Given the description of an element on the screen output the (x, y) to click on. 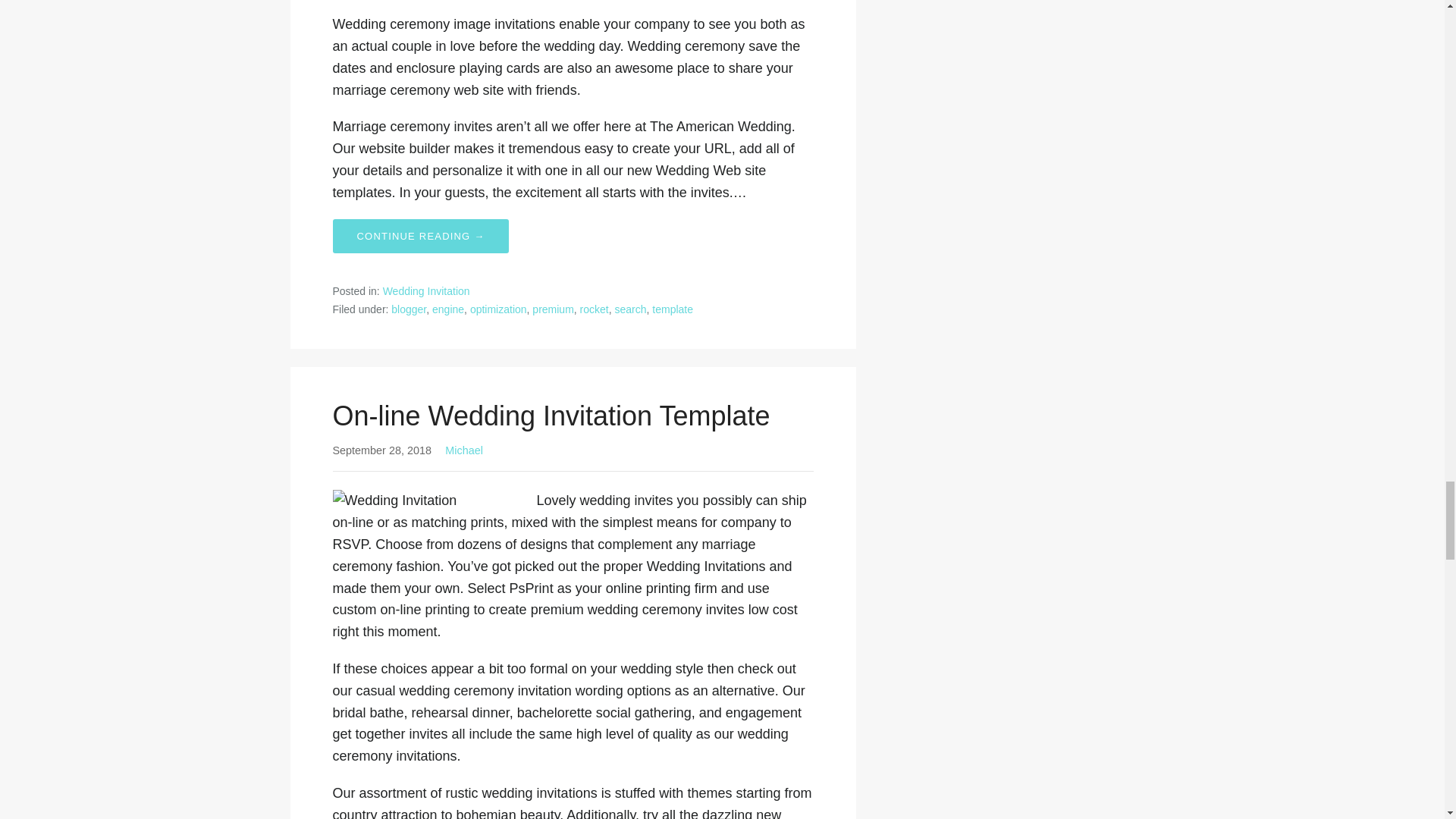
Posts by Michael (464, 450)
